Given the description of an element on the screen output the (x, y) to click on. 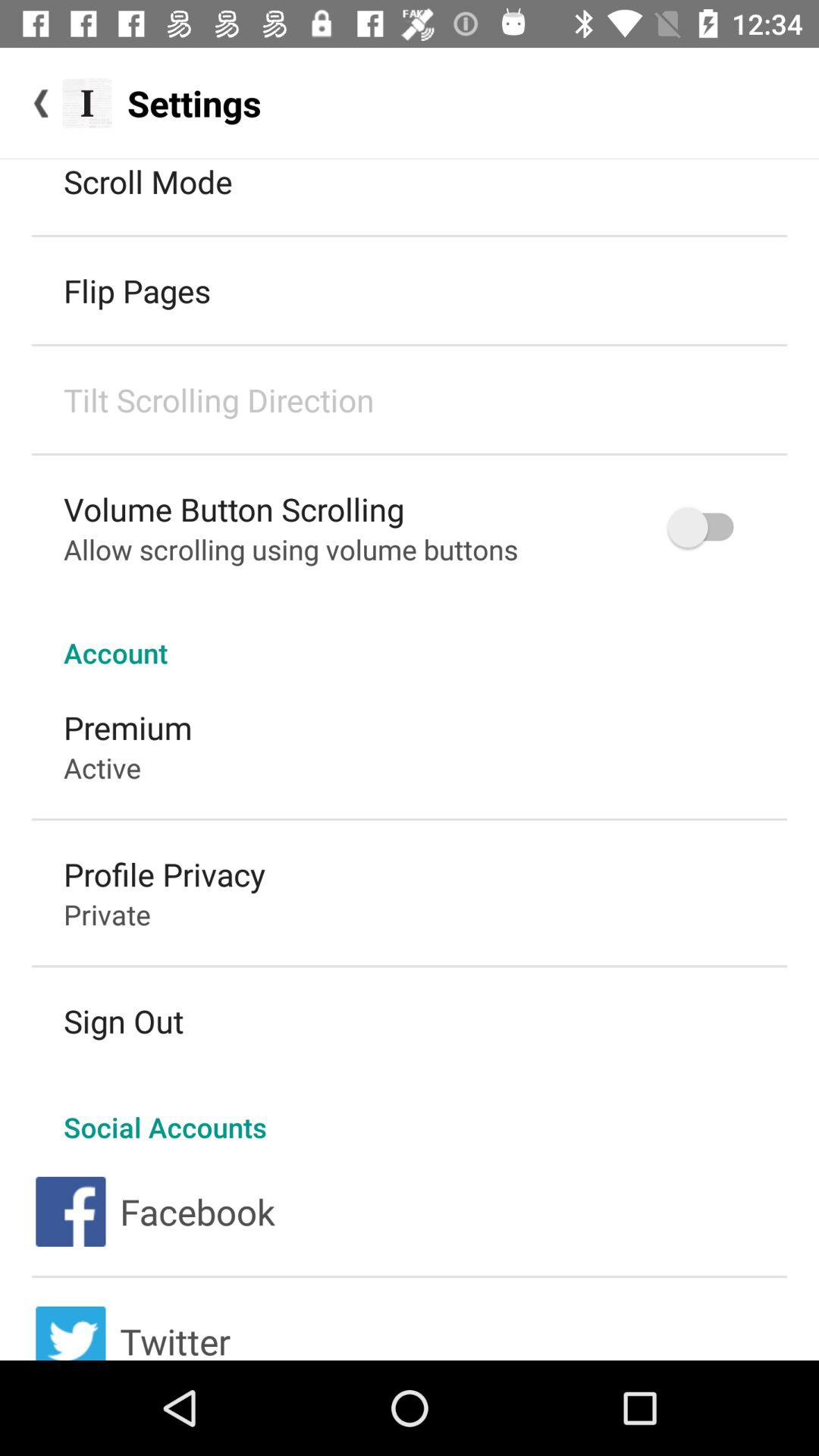
tap the icon above the account item (707, 527)
